Given the description of an element on the screen output the (x, y) to click on. 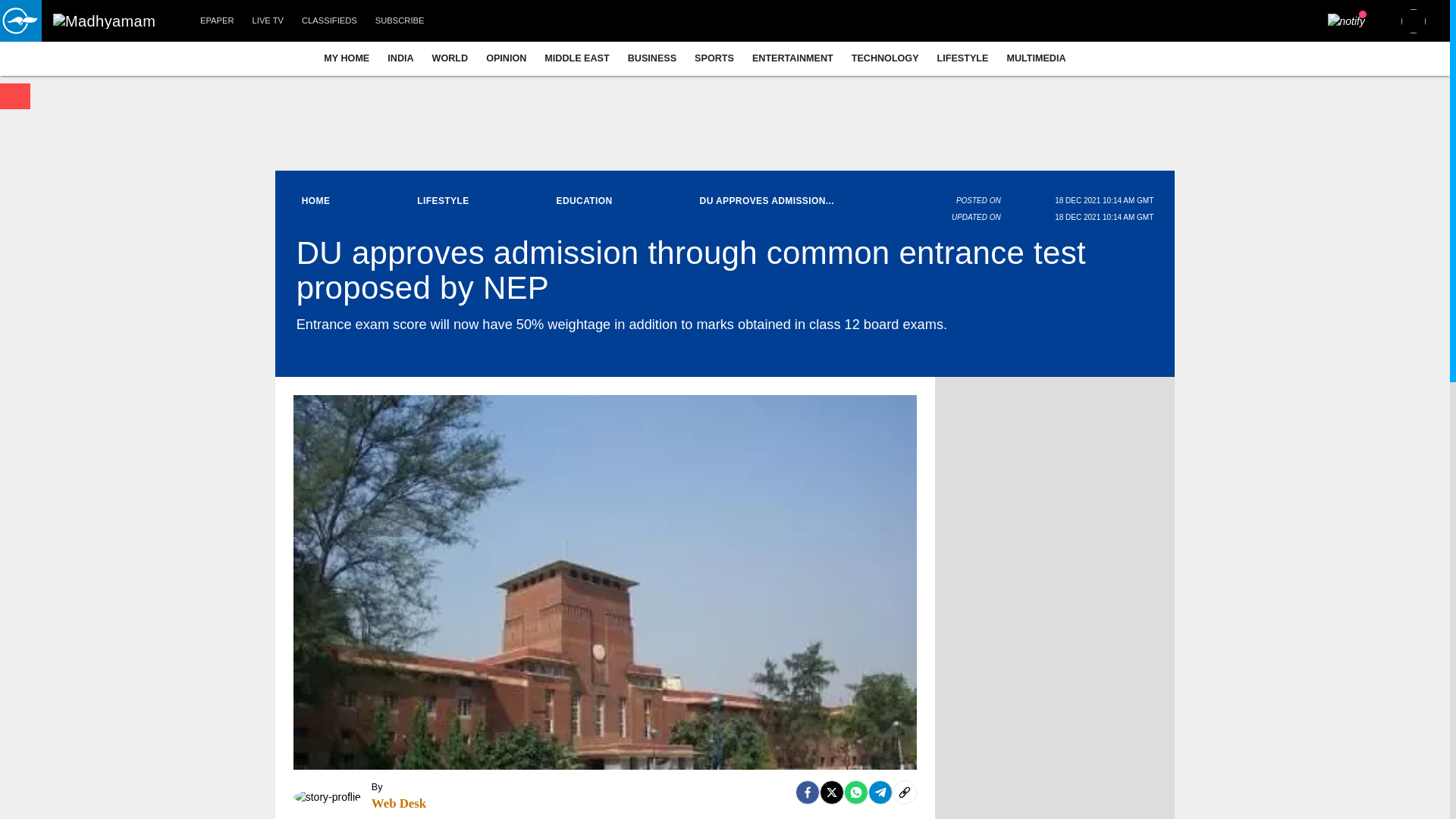
Madhyamam (103, 20)
TECHNOLOGY (885, 58)
OPINION (506, 58)
MIDDLE EAST (576, 58)
BUSINESS (651, 58)
ENTERTAINMENT (792, 58)
LIFESTYLE (962, 58)
LIVE TV (267, 20)
SUBSCRIBE (399, 20)
SPORTS (713, 58)
